Given the description of an element on the screen output the (x, y) to click on. 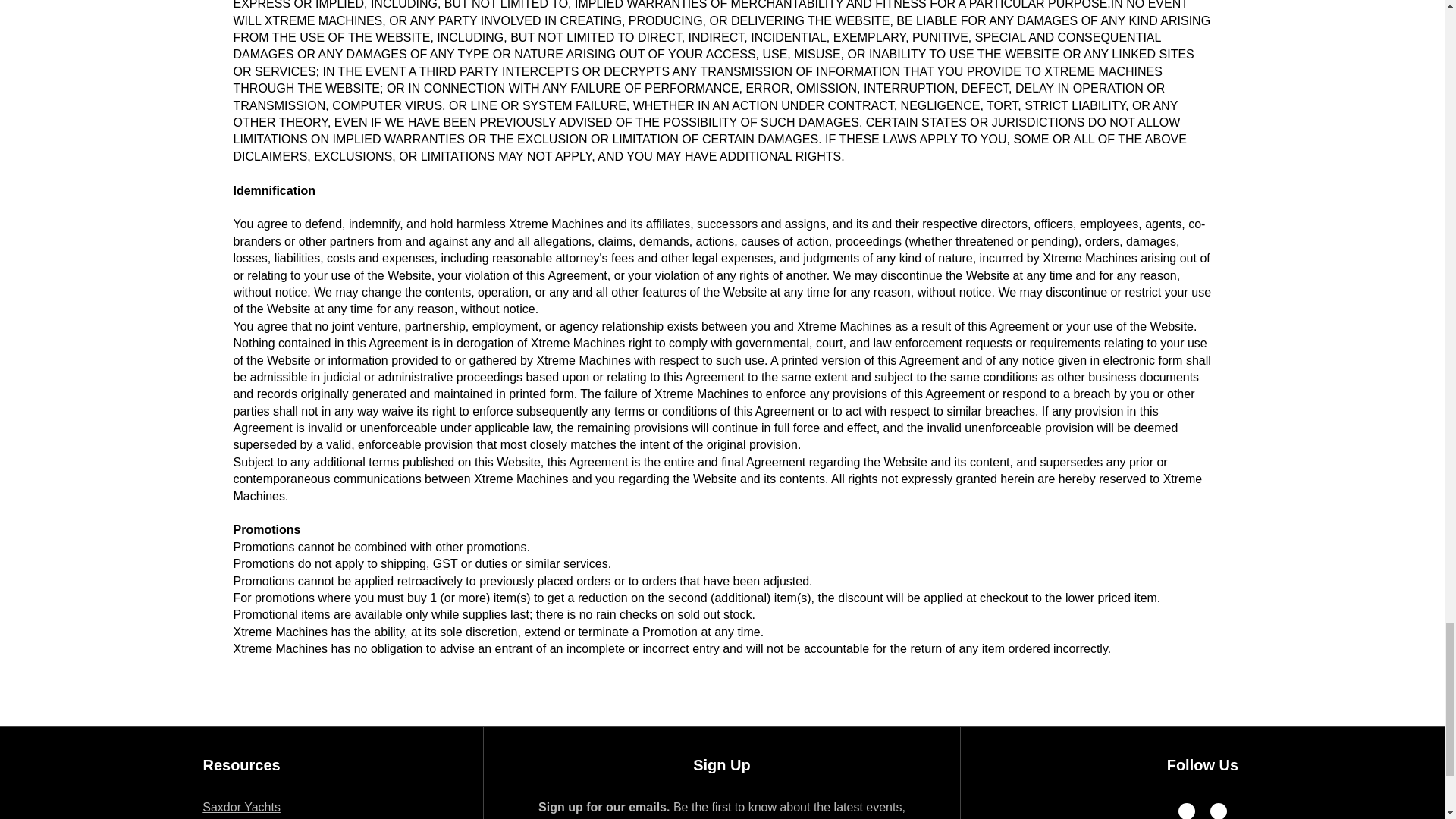
Saxdor Yachts (241, 807)
